Given the description of an element on the screen output the (x, y) to click on. 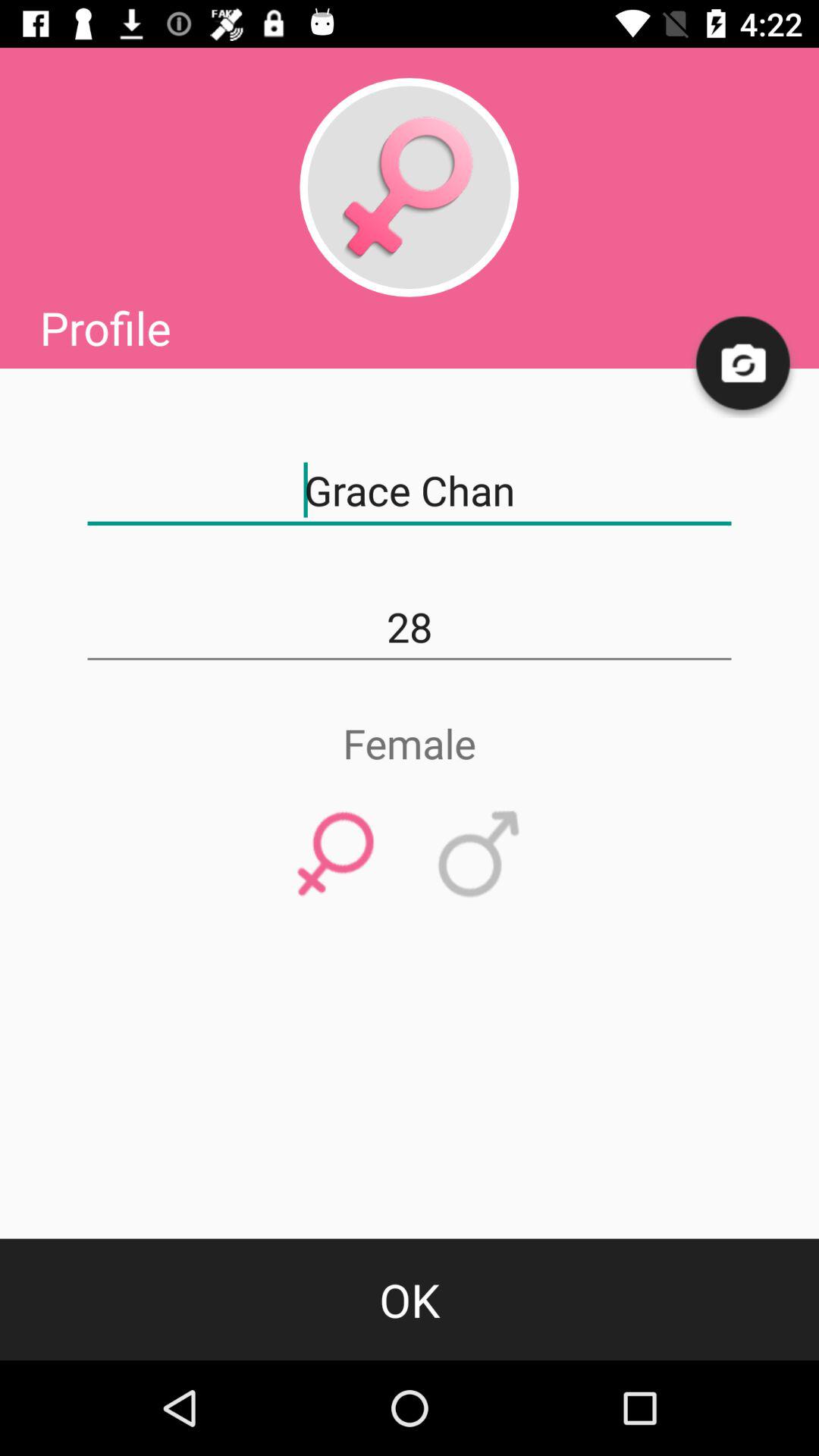
upload profile photo (744, 364)
